Given the description of an element on the screen output the (x, y) to click on. 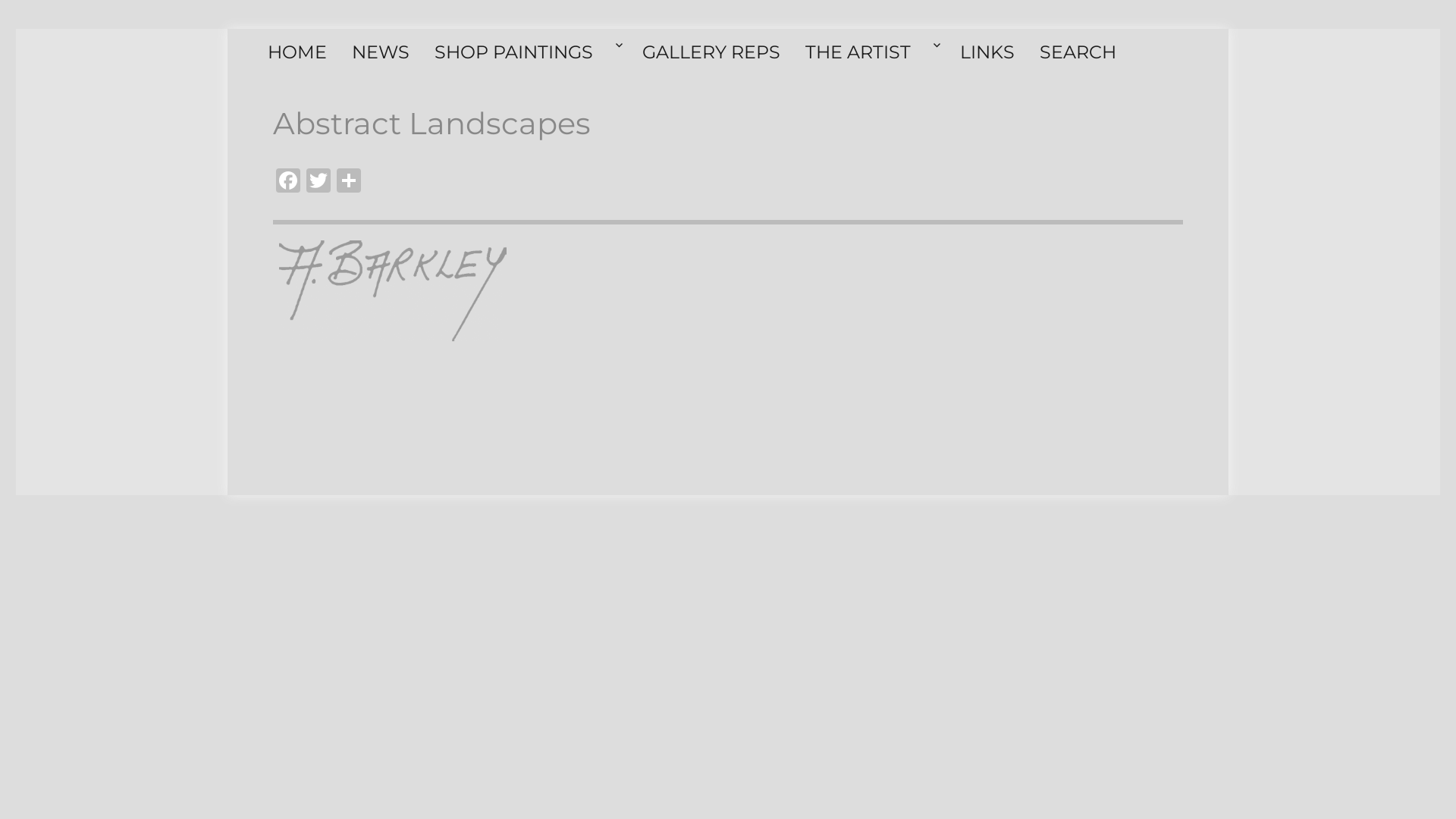
Share Element type: text (348, 182)
Twitter Element type: text (318, 182)
SHOP PAINTINGS Element type: text (529, 51)
Facebook Element type: text (288, 182)
THE ARTIST Element type: text (873, 51)
SEARCH Element type: text (1081, 51)
LINKS Element type: text (990, 51)
NEWS Element type: text (383, 51)
Click to email Anne. Element type: hover (392, 291)
HOME Element type: text (300, 51)
GALLERY REPS Element type: text (714, 51)
